Given the description of an element on the screen output the (x, y) to click on. 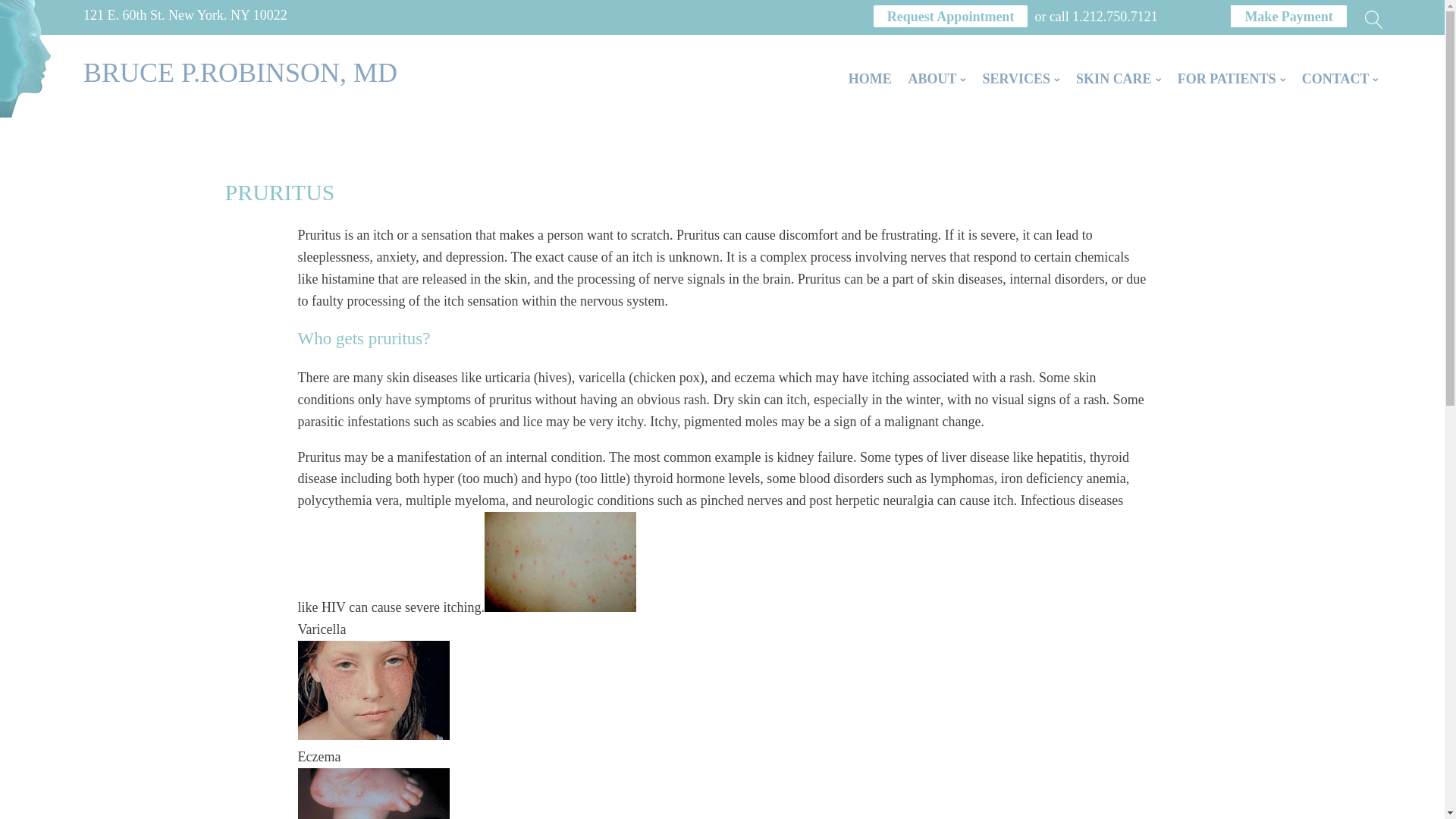
or call 1.212.750.7121 (1101, 13)
SKIN CARE (1118, 78)
SERVICES (1021, 78)
Make Payment (1288, 16)
ABOUT (936, 78)
Search (27, 10)
Request Appointment (950, 16)
121 E. 60th St. New York. NY 10022 (147, 13)
CONTACT (1340, 78)
FOR PATIENTS (1231, 78)
